Given the description of an element on the screen output the (x, y) to click on. 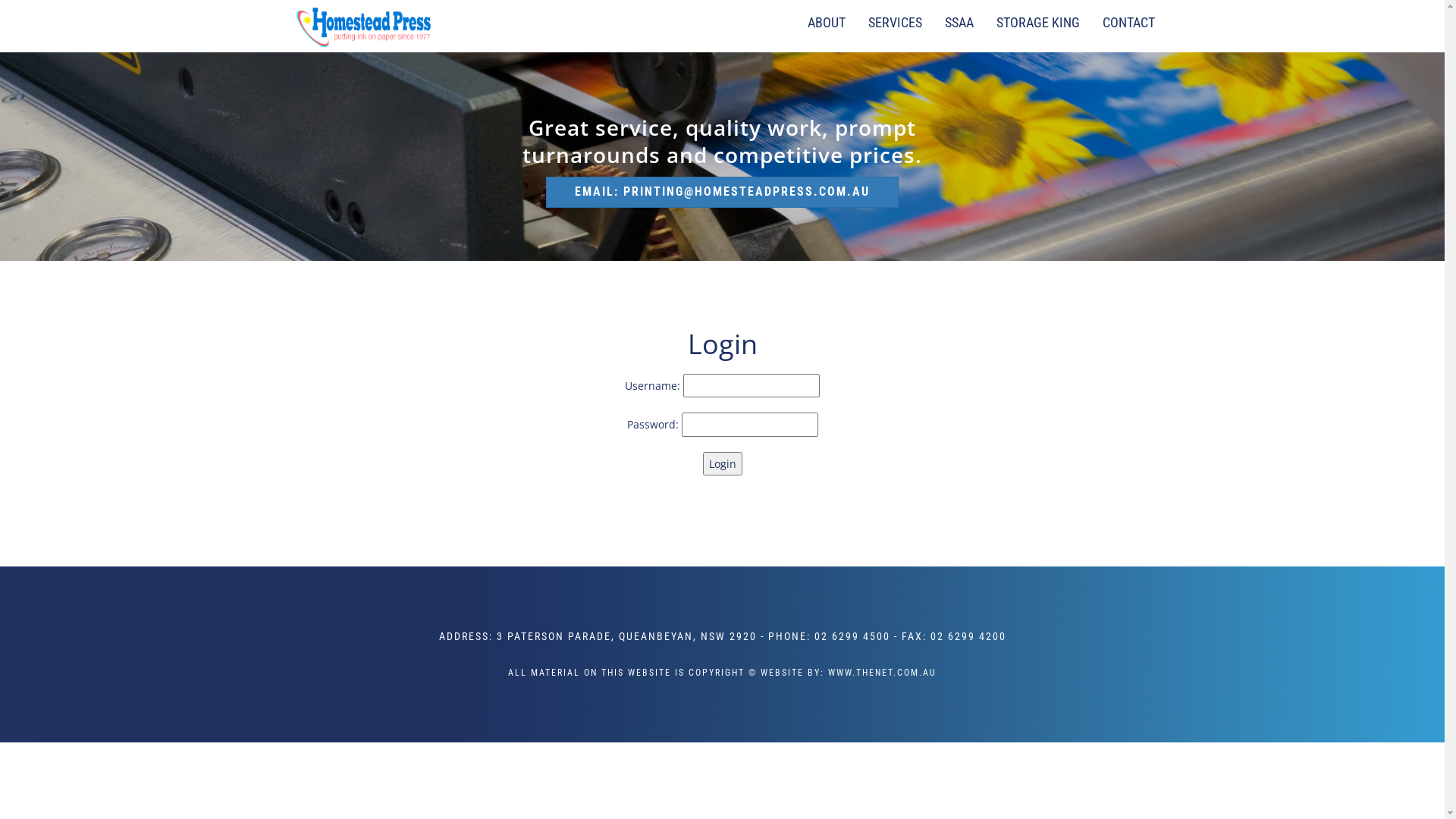
CONTACT Element type: text (1127, 20)
ABOUT Element type: text (826, 20)
WWW.THENET.COM.AU Element type: text (882, 672)
SSAA Element type: text (958, 20)
Login Element type: text (721, 463)
EMAIL: PRINTING@HOMESTEADPRESS.COM.AU Element type: text (722, 190)
STORAGE KING Element type: text (1037, 20)
02 6299 4500 Element type: text (852, 636)
SERVICES Element type: text (894, 20)
EMAIL: PRINTING@HOMESTEADPRESS.COM.AU Element type: text (722, 191)
